Given the description of an element on the screen output the (x, y) to click on. 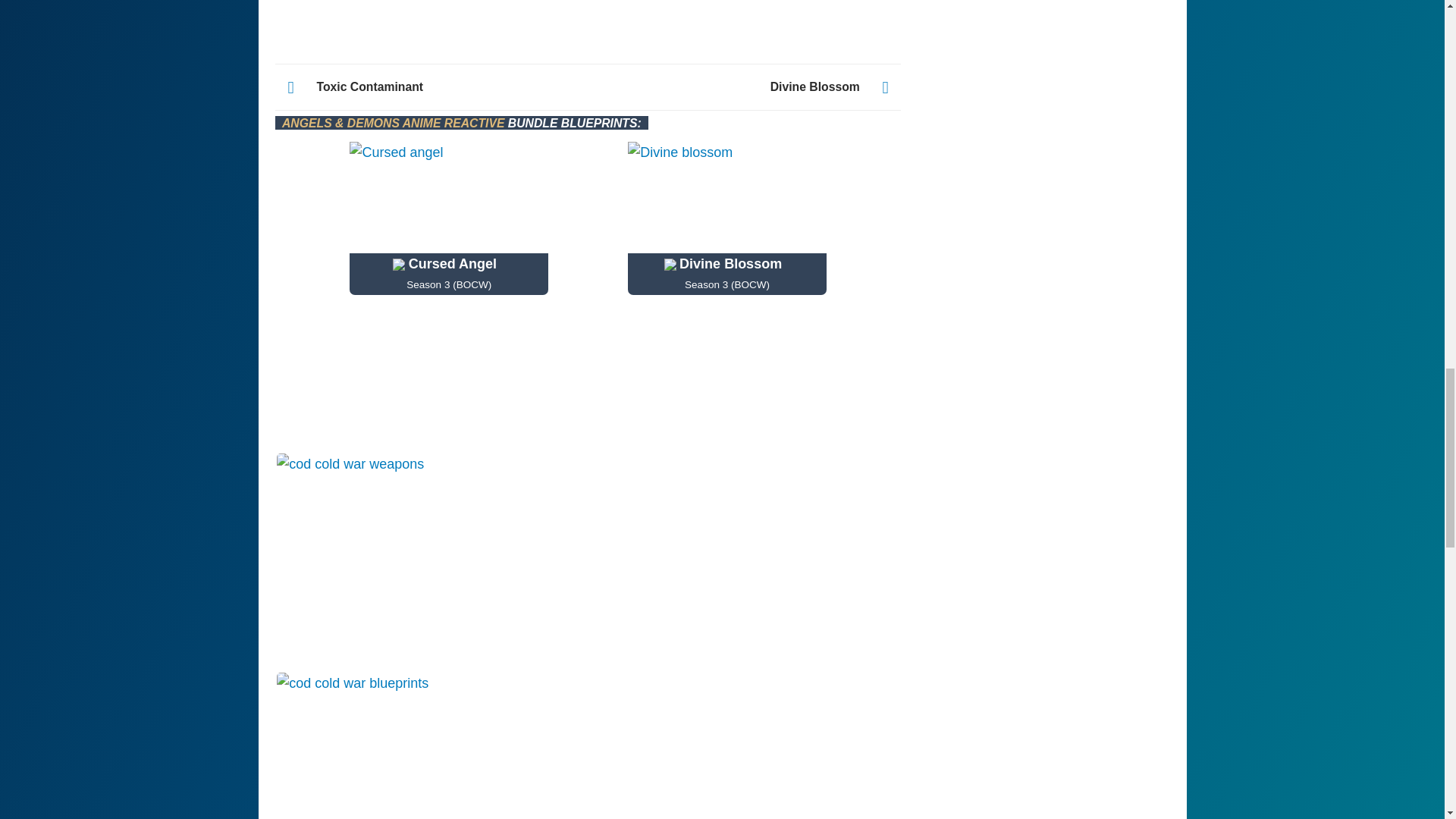
Cursed  angel (448, 197)
Divine  blossom (727, 197)
